Given the description of an element on the screen output the (x, y) to click on. 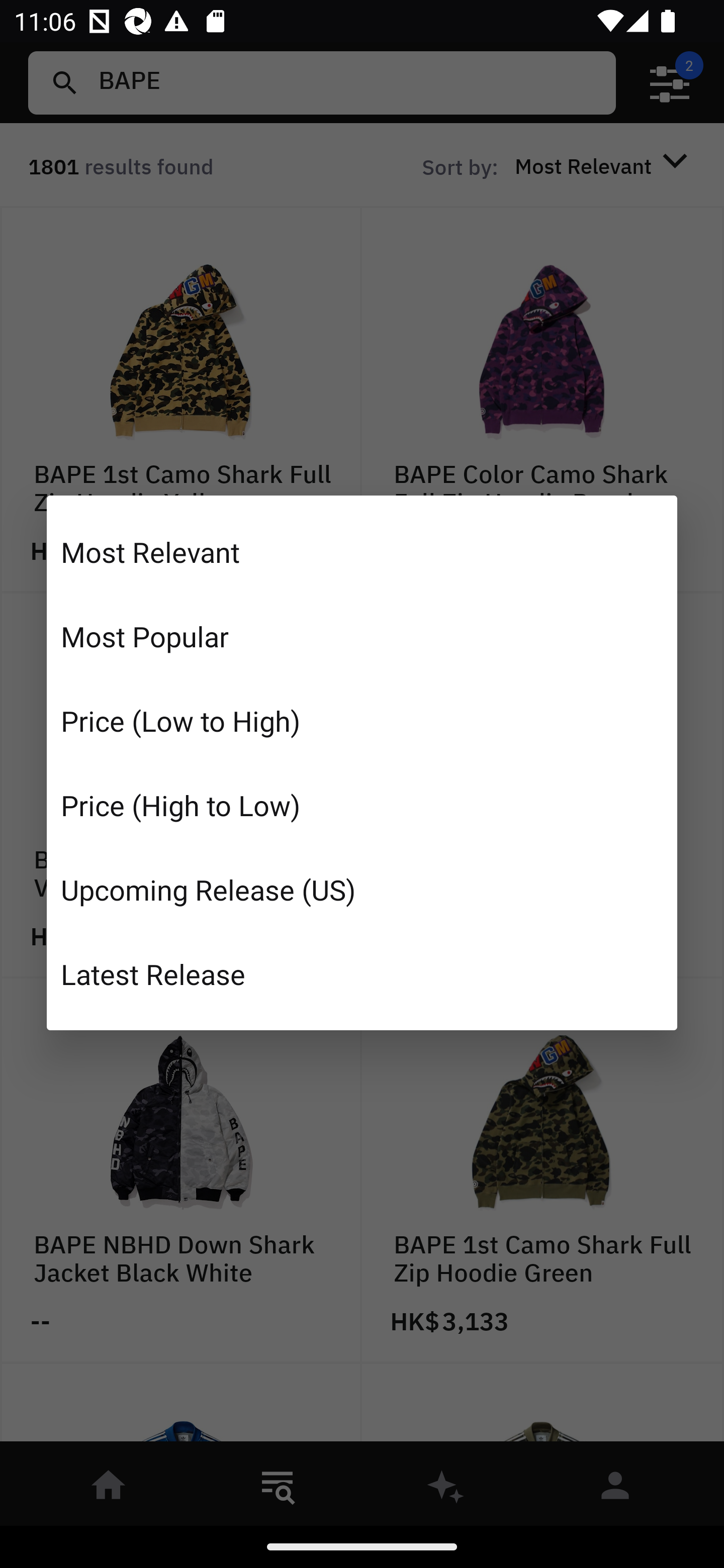
Most Relevant (361, 551)
Most Popular (361, 636)
Price (Low to High) (361, 720)
Price (High to Low) (361, 804)
Upcoming Release (US) (361, 888)
Latest Release (361, 973)
